Given the description of an element on the screen output the (x, y) to click on. 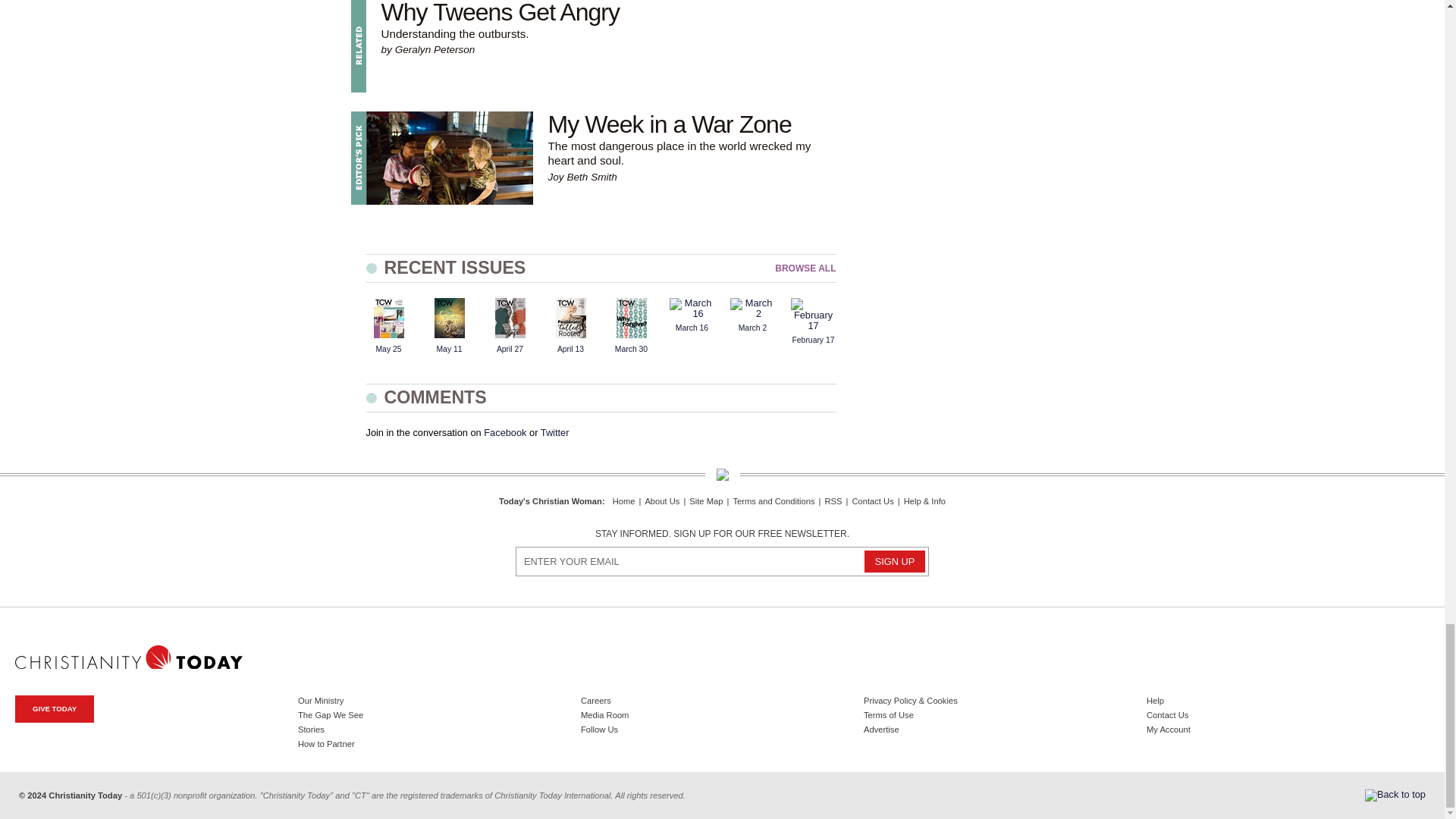
March 2 (751, 308)
Sign Up (894, 561)
March 16 (691, 308)
My Week in a War Zone (448, 157)
